Given the description of an element on the screen output the (x, y) to click on. 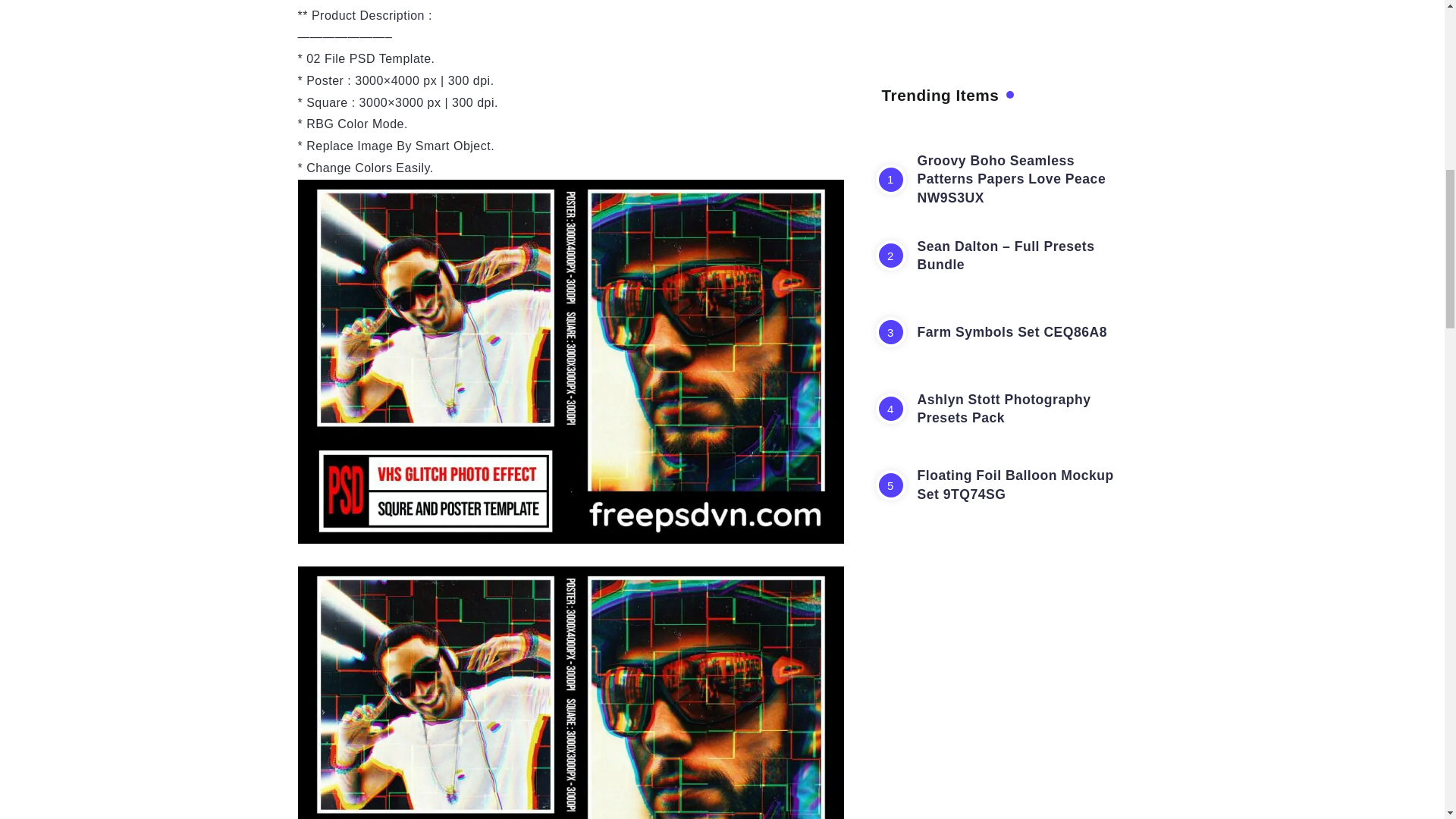
Ashlyn Stott Photography Presets Pack (1003, 193)
Floating Foil Balloon Mockup Set 9TQ74SG (1015, 269)
Farm Symbols Set CEQ86A8 (1012, 116)
Floating Foil Balloon Mockup Set 9TQ74SG (1015, 269)
Farm Symbols Set CEQ86A8 (1012, 116)
Ashlyn Stott Photography Presets Pack (1003, 193)
